Given the description of an element on the screen output the (x, y) to click on. 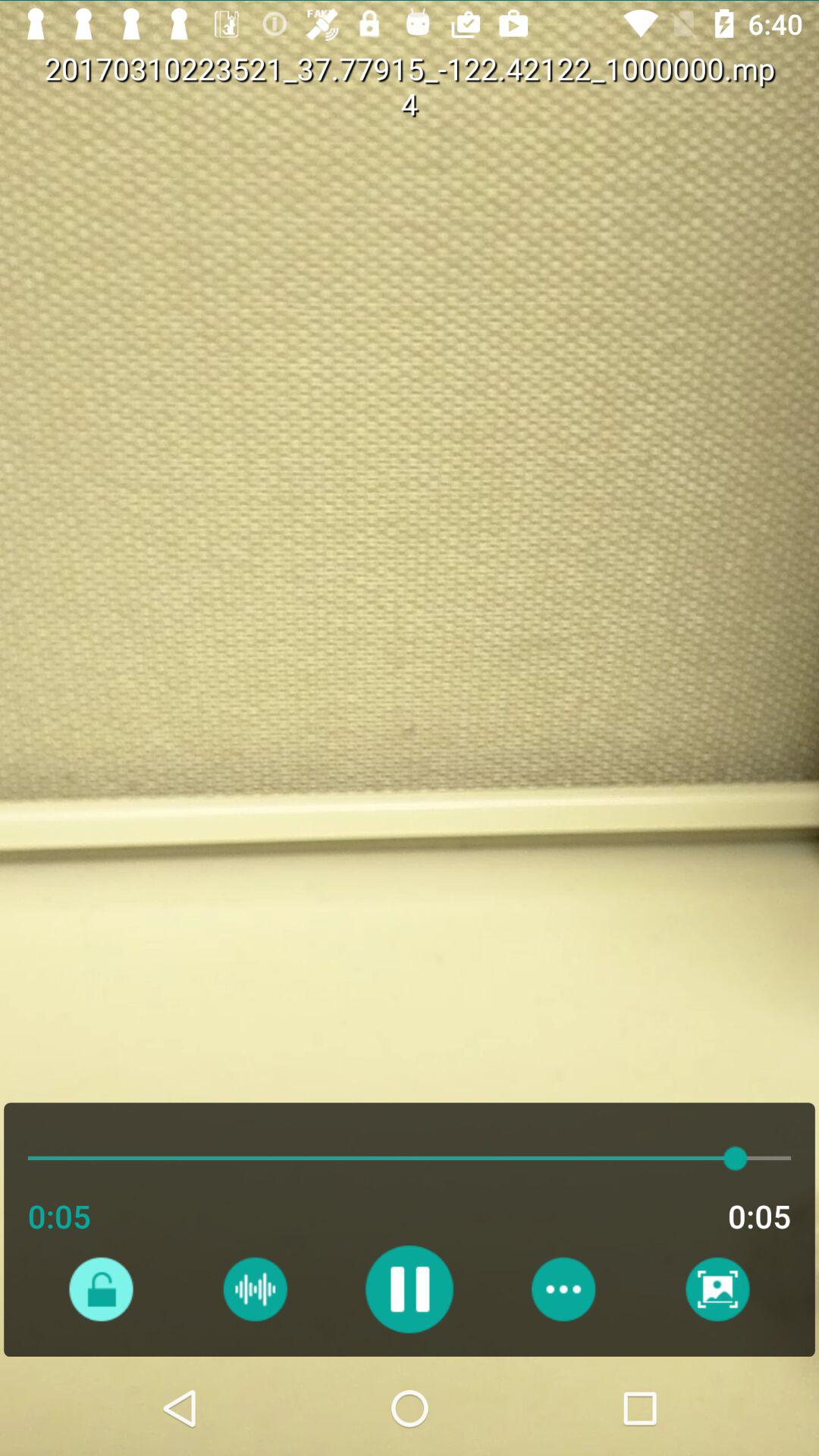
click the audio bar (133, 1091)
select the text below the notification bar (595, 103)
select the 5 zeros and full stop from the top (691, 103)
